Given the description of an element on the screen output the (x, y) to click on. 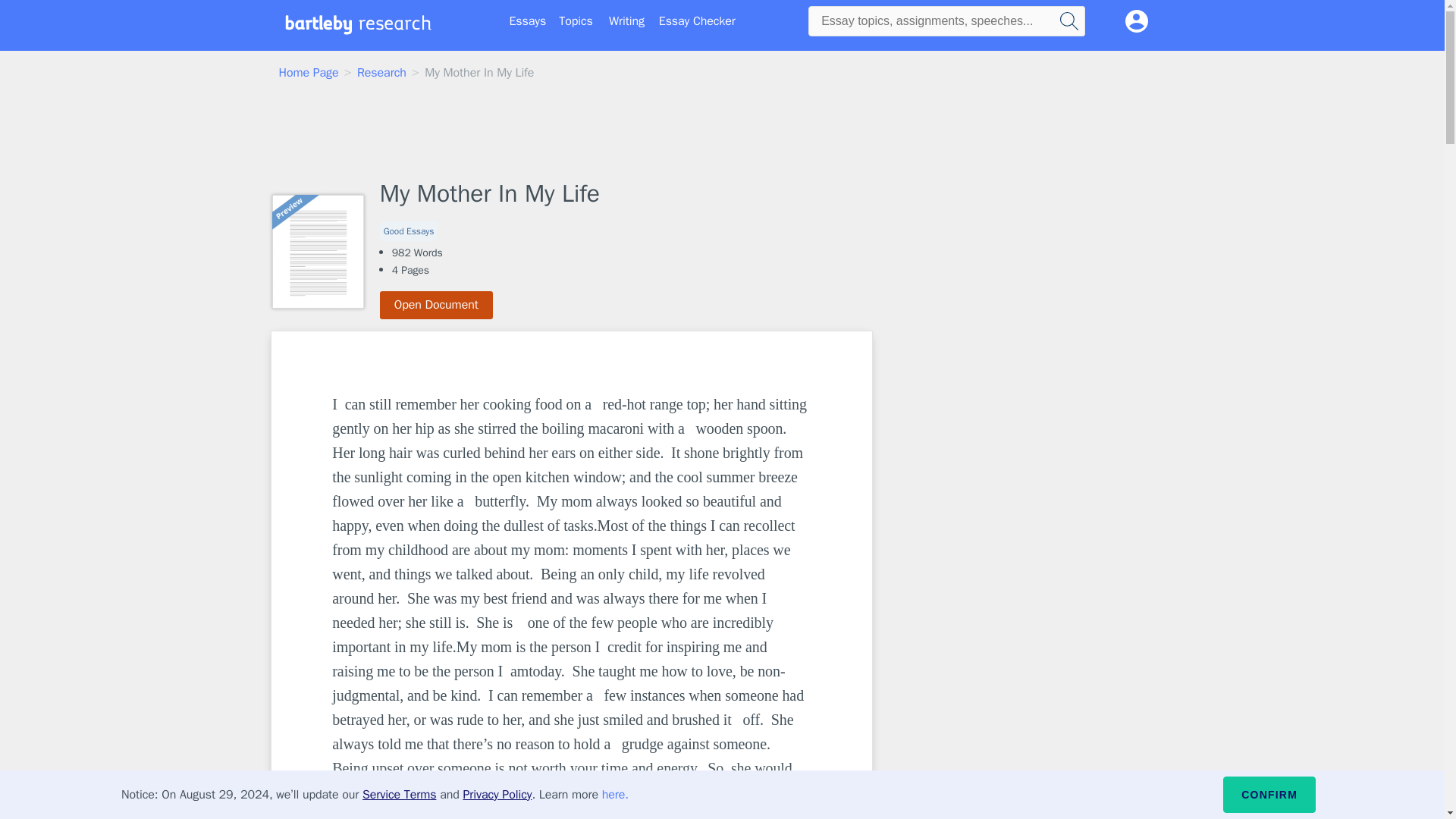
Essay Checker (697, 20)
Get Access (571, 810)
Essays (528, 20)
Home Page (309, 72)
Open Document (436, 305)
Writing (626, 20)
Research (381, 72)
Topics (575, 20)
